Given the description of an element on the screen output the (x, y) to click on. 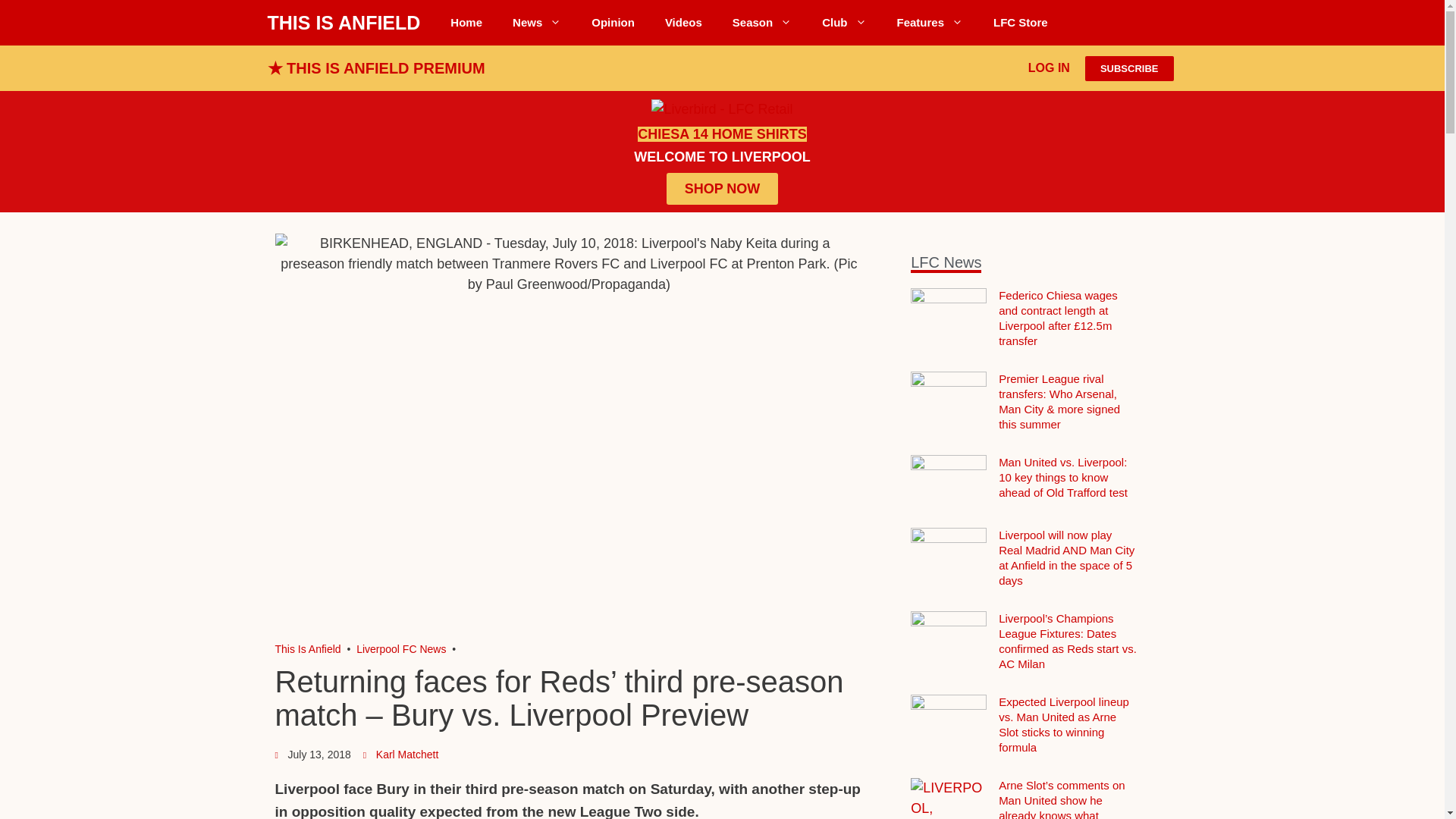
Home (466, 22)
THIS IS ANFIELD (343, 22)
Liverpool FC (307, 648)
Liverpool FC Videos (683, 22)
Liverpool FC Features (929, 22)
Go to the Liverpool FC News category archives. (400, 648)
Season (761, 22)
News (536, 22)
Liverpool FC News (536, 22)
Videos (683, 22)
